Given the description of an element on the screen output the (x, y) to click on. 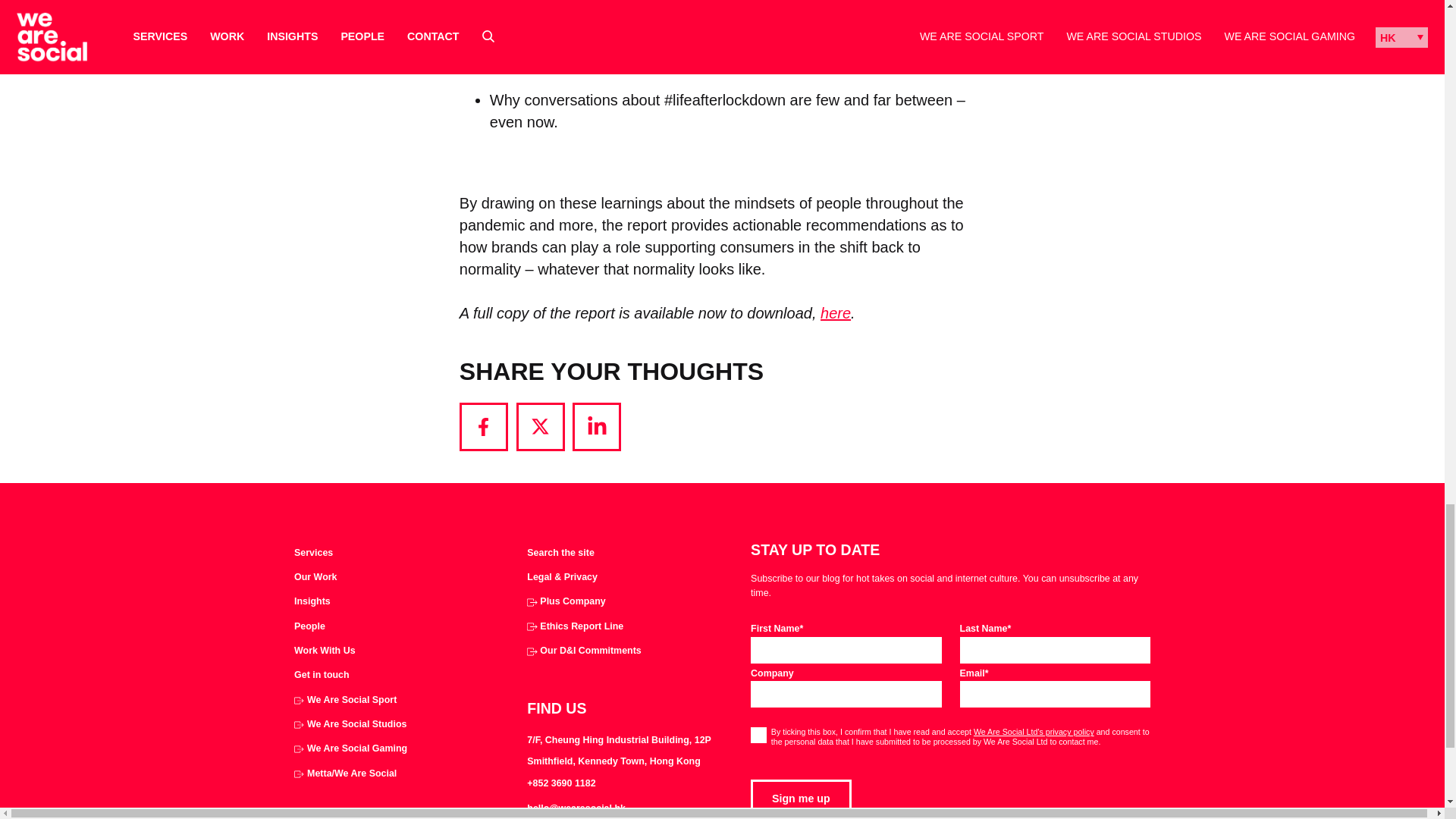
We Are Social Sport (345, 700)
Services (313, 553)
Share via Facebook (484, 426)
Plus Company (566, 601)
Services (313, 553)
Share via Facebook (484, 426)
People (309, 626)
Share via Twitter (540, 426)
Insights (312, 601)
We Are Social Gaming (350, 749)
About (309, 626)
Our Work (315, 577)
Ethics Report Line (575, 626)
here (835, 312)
